Given the description of an element on the screen output the (x, y) to click on. 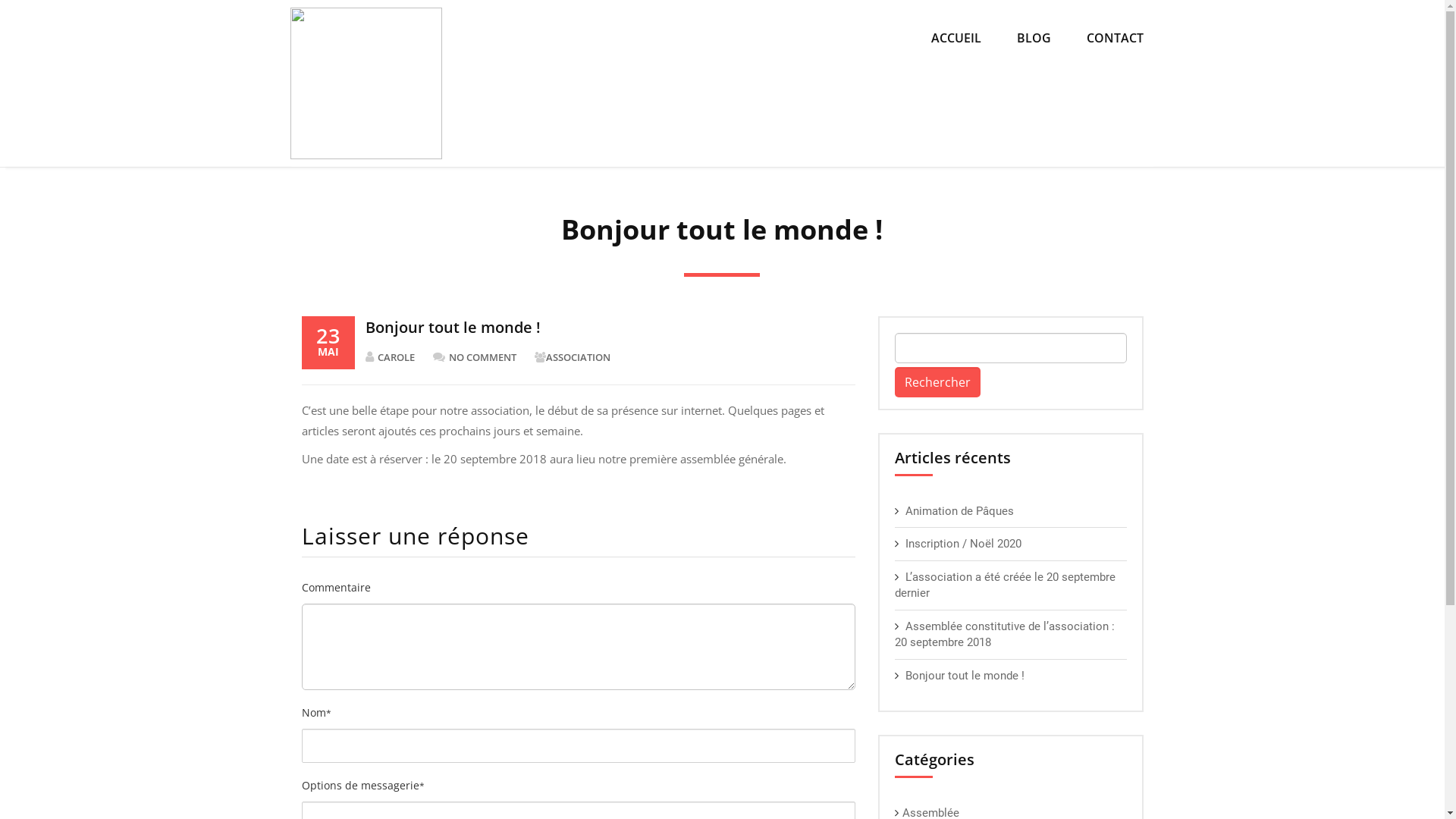
Rechercher Element type: text (937, 382)
CONTACT Element type: text (1114, 37)
ASSOCIATION Element type: text (585, 357)
Bonjour tout le monde ! Element type: text (452, 326)
NO COMMENT Element type: text (482, 357)
Bonjour tout le monde ! Element type: text (964, 675)
BLOG Element type: text (1033, 37)
CAROLE Element type: text (397, 357)
ACCUEIL Element type: text (955, 37)
